Given the description of an element on the screen output the (x, y) to click on. 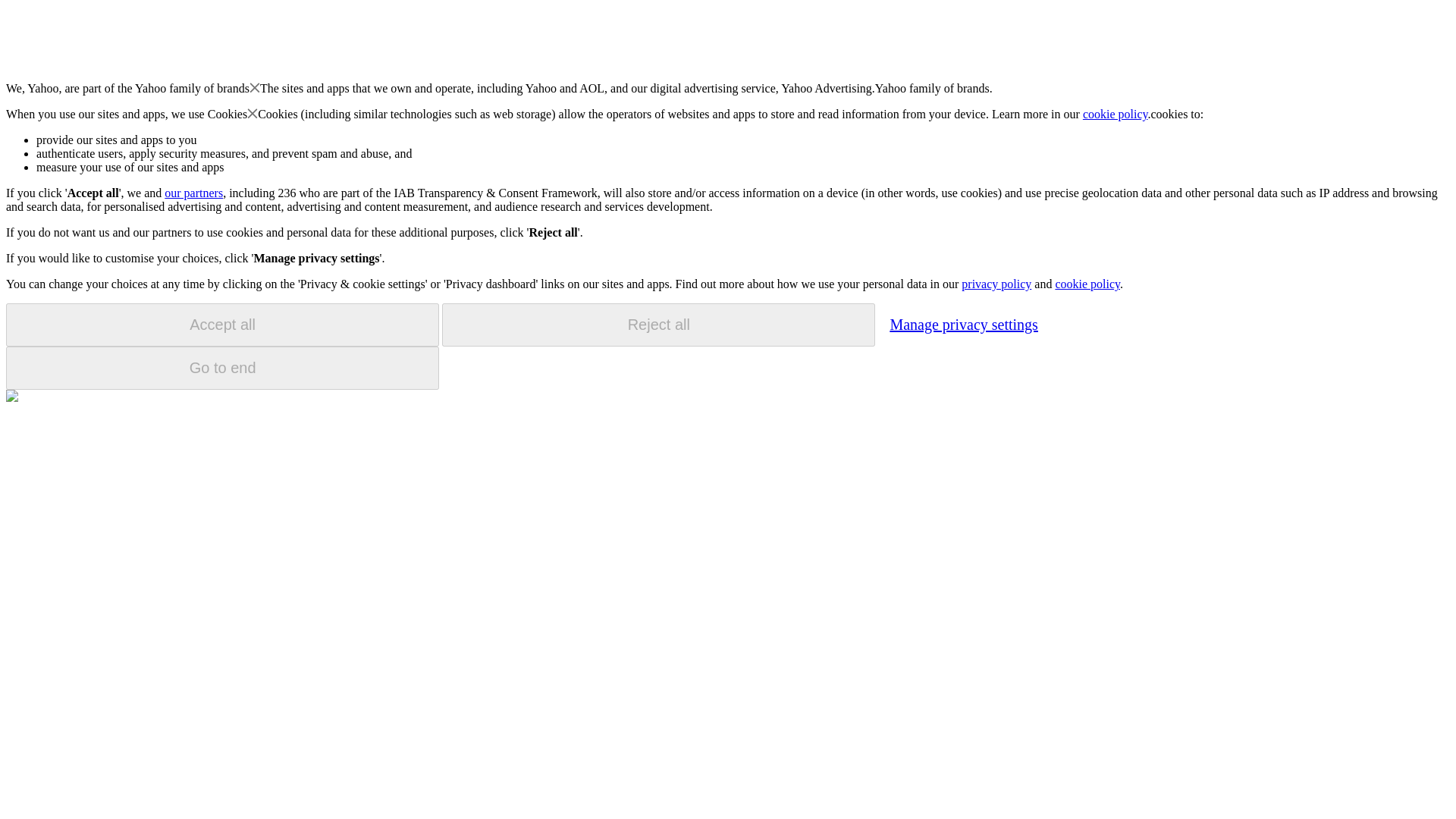
privacy policy (995, 283)
Manage privacy settings (963, 323)
our partners (193, 192)
Reject all (658, 324)
Accept all (222, 324)
Go to end (222, 367)
cookie policy (1086, 283)
cookie policy (1115, 113)
